Given the description of an element on the screen output the (x, y) to click on. 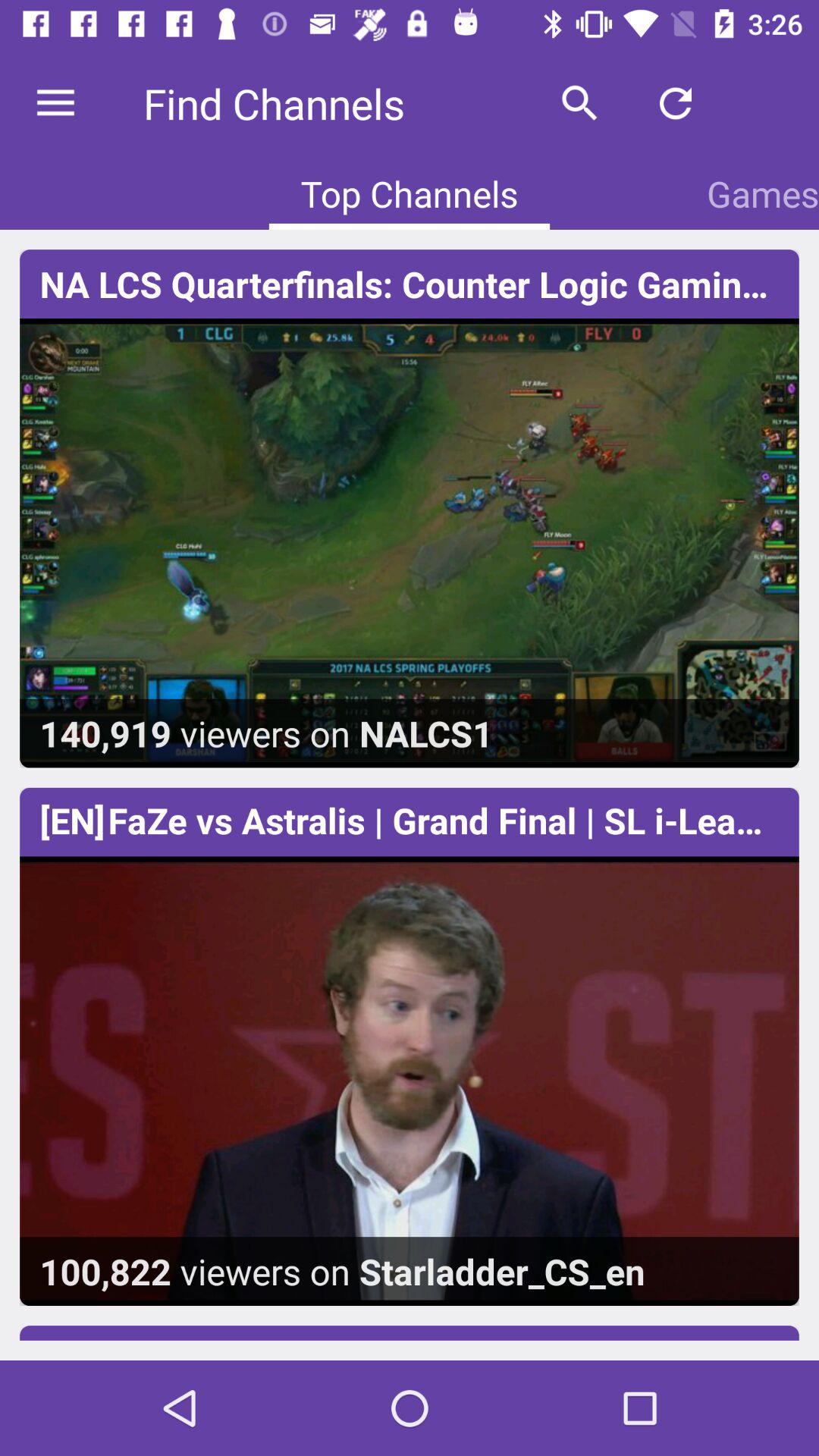
choose search button (580, 103)
click on second image (409, 1046)
select the option which is above the games (675, 103)
click on second image along with text below (409, 1081)
click on option next to top channels (762, 193)
select first image along with the text at top and bottom (409, 508)
